Given the description of an element on the screen output the (x, y) to click on. 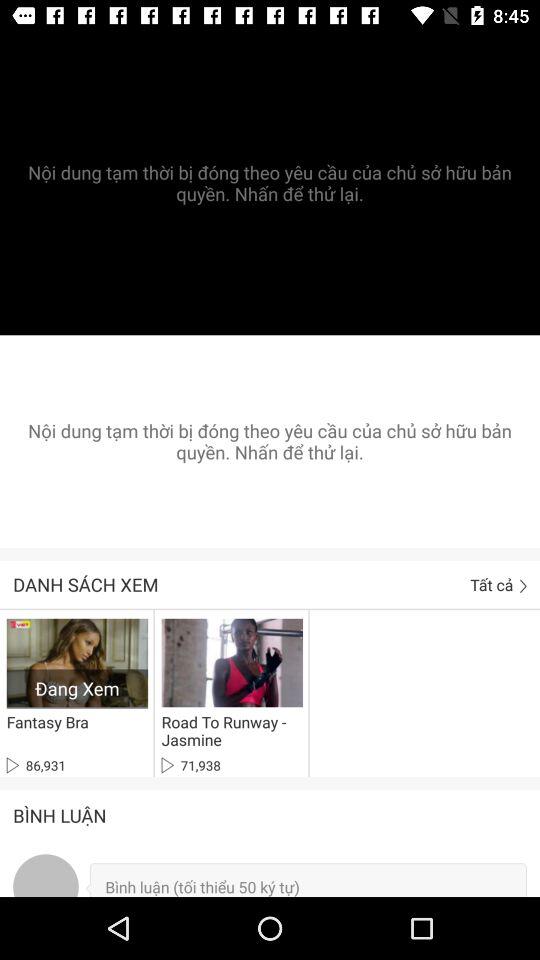
tap the 86,931 (36, 765)
